Given the description of an element on the screen output the (x, y) to click on. 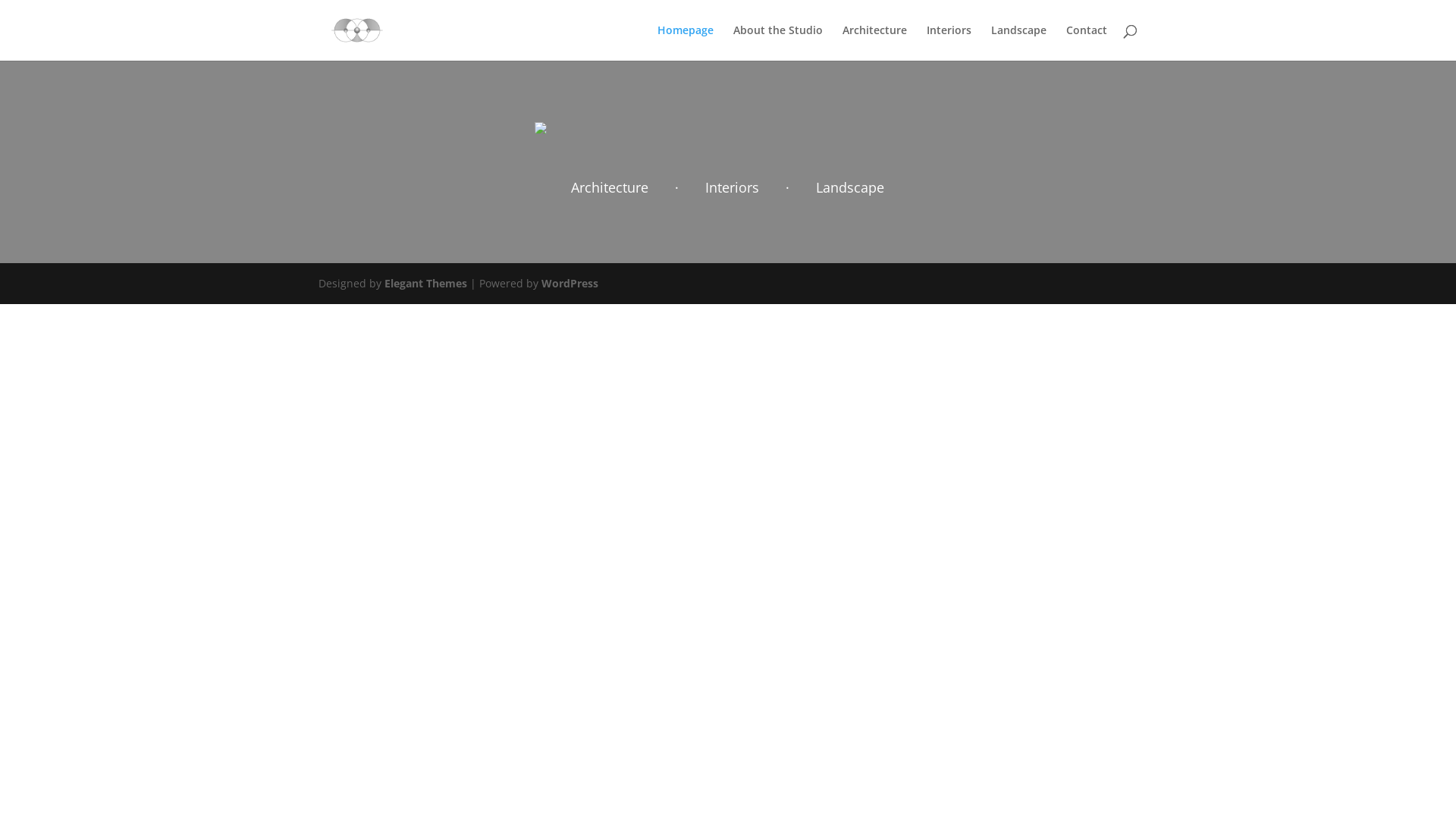
About the Studio Element type: text (777, 42)
Landscape Element type: text (1018, 42)
Contact Element type: text (1086, 42)
Elegant Themes Element type: text (425, 283)
Architecture Element type: text (874, 42)
Homepage Element type: text (685, 42)
Interiors Element type: text (948, 42)
WordPress Element type: text (569, 283)
